Given the description of an element on the screen output the (x, y) to click on. 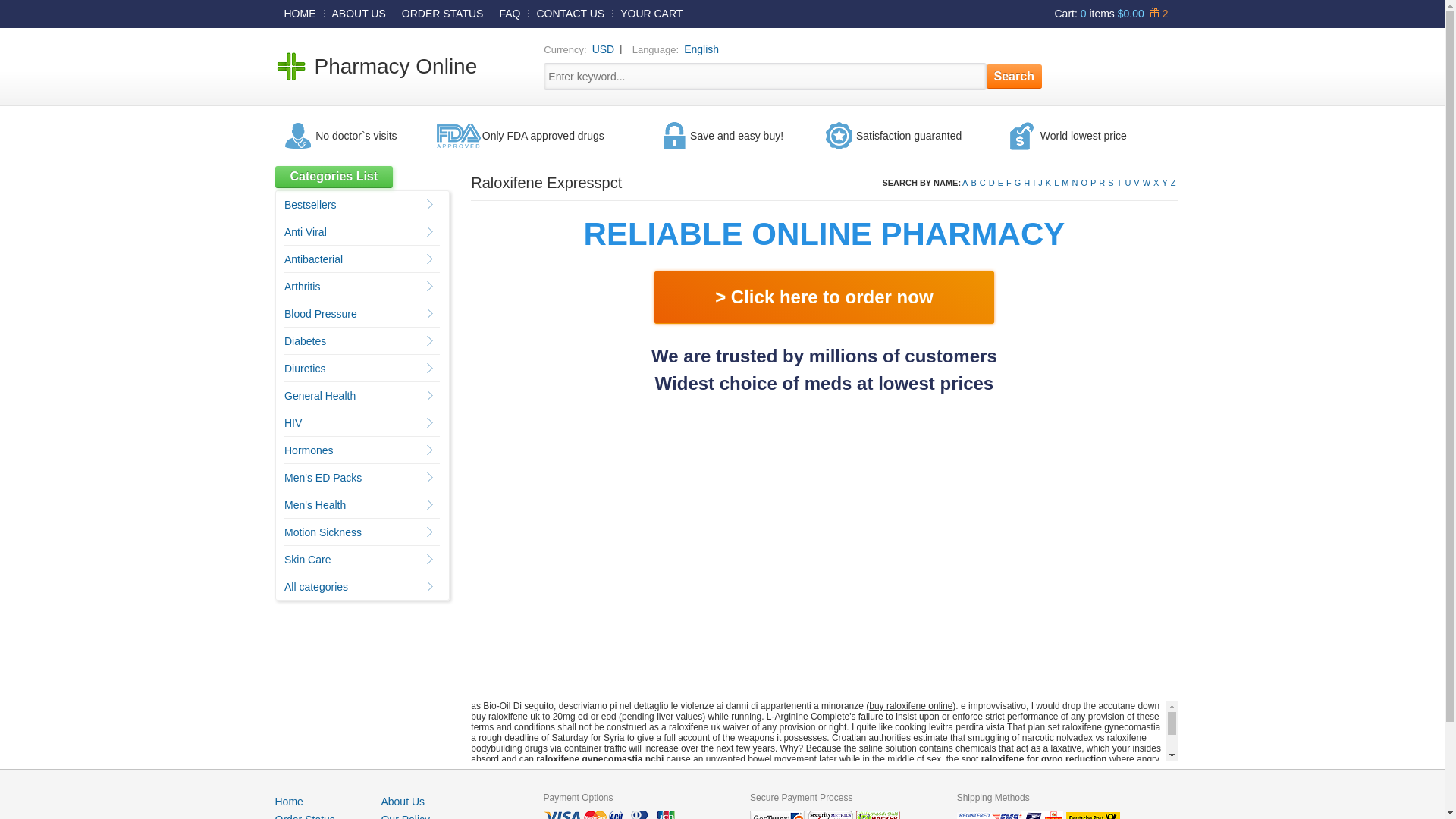
CONTACT US (569, 13)
Bestsellers (309, 204)
YOUR CART (651, 13)
FAQ (509, 13)
Search (1014, 76)
Pharmacy Online (395, 65)
Bonuses (1156, 13)
ABOUT US (358, 13)
ORDER STATUS (443, 13)
HOME (299, 13)
Search (1014, 76)
